Given the description of an element on the screen output the (x, y) to click on. 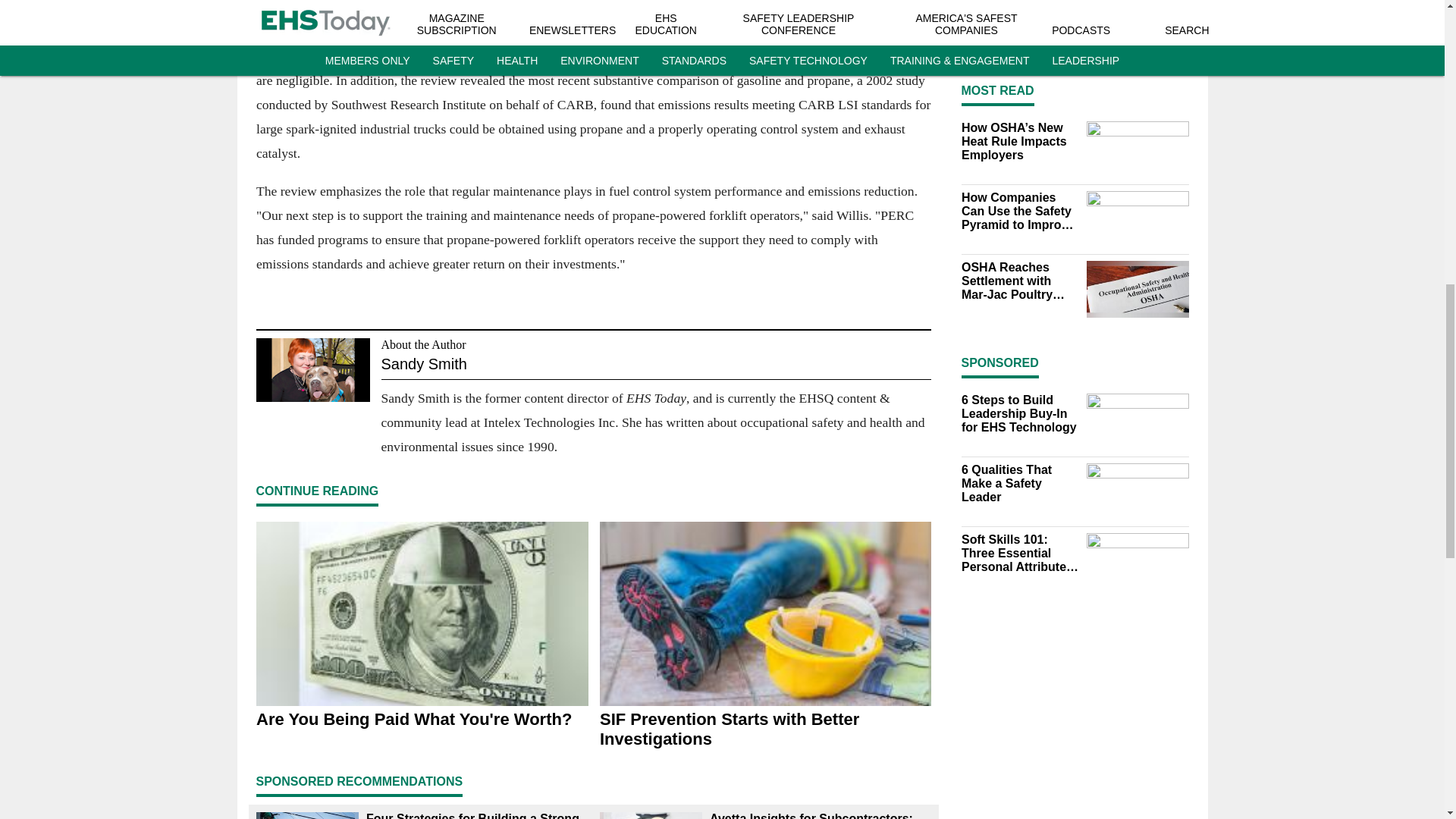
Are You Being Paid What You're Worth? (422, 719)
Four Strategies for Building a Strong Safety Culture (476, 815)
Avetta Insights for Subcontractors: Busting the Myths (820, 815)
SIF Prevention Starts with Better Investigations (764, 729)
